Given the description of an element on the screen output the (x, y) to click on. 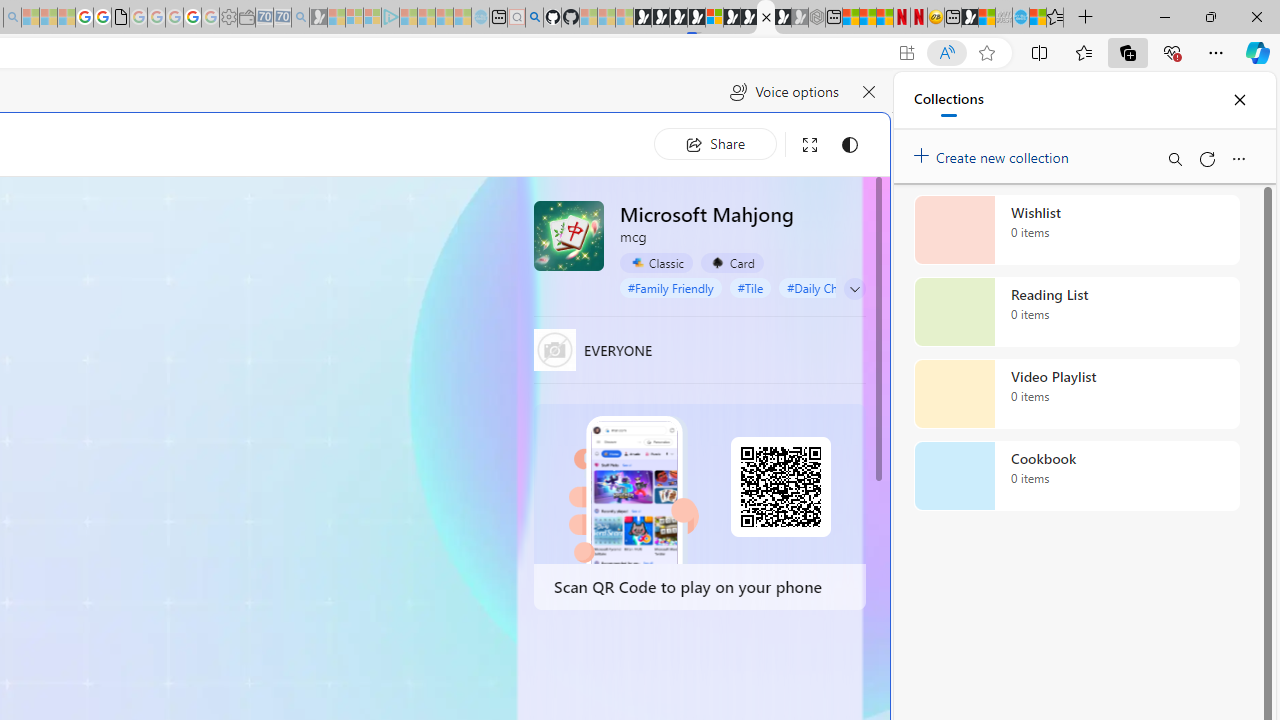
Close split screen (844, 102)
Split screen (1039, 52)
Card (732, 262)
Close read aloud (868, 92)
Frequently visited (418, 265)
Copilot (Ctrl+Shift+.) (1258, 52)
Cheap Car Rentals - Save70.com - Sleeping (281, 17)
Microsoft account | Privacy - Sleeping (372, 17)
Minimize (1164, 16)
#Daily Challenge (831, 287)
